Given the description of an element on the screen output the (x, y) to click on. 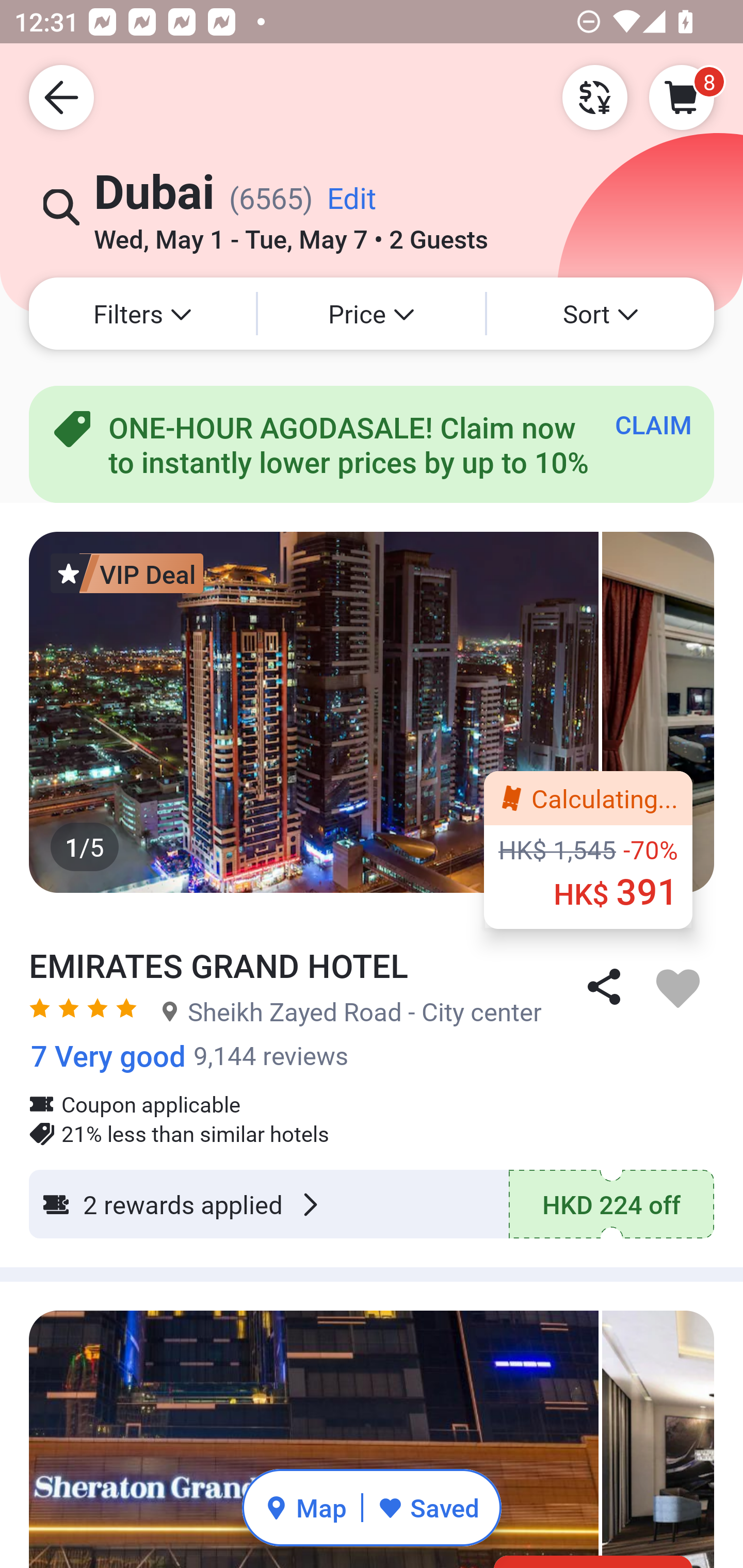
Wed, May 1 - Tue, May 7 • 2 Guests (290, 232)
Filters (141, 313)
Price (371, 313)
Sort (600, 313)
CLAIM (653, 424)
VIP Deal (126, 572)
1/5 (371, 711)
Calculating... ‪HK$ 1,545 -70% ‪HK$ 391 (587, 849)
2 rewards applied HKD 224 off (371, 1204)
Map Saved (371, 1507)
